Given the description of an element on the screen output the (x, y) to click on. 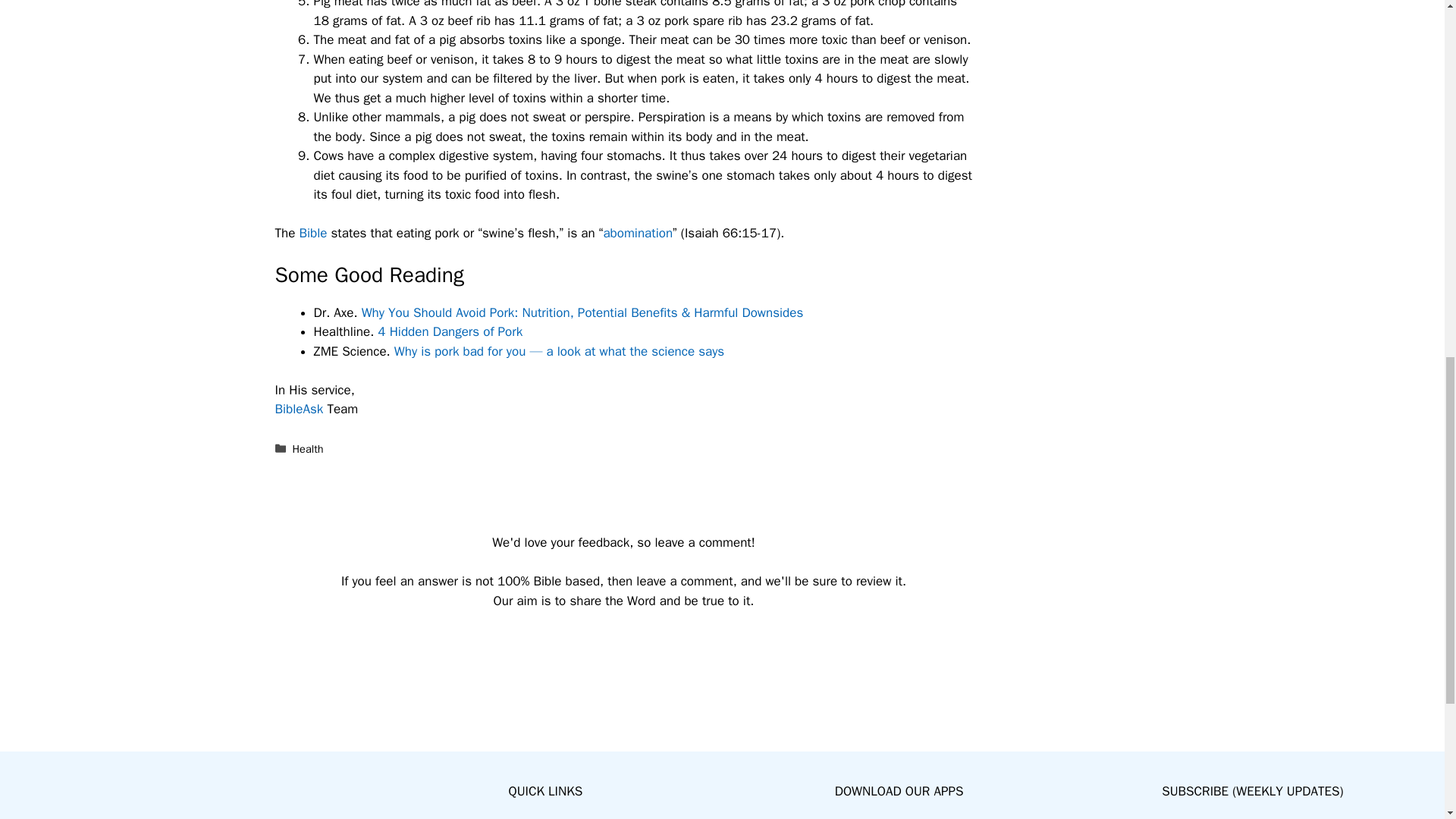
Health (307, 448)
BibleAsk (299, 408)
Bible (312, 232)
4 Hidden Dangers of Pork (449, 331)
abomination (637, 232)
